Given the description of an element on the screen output the (x, y) to click on. 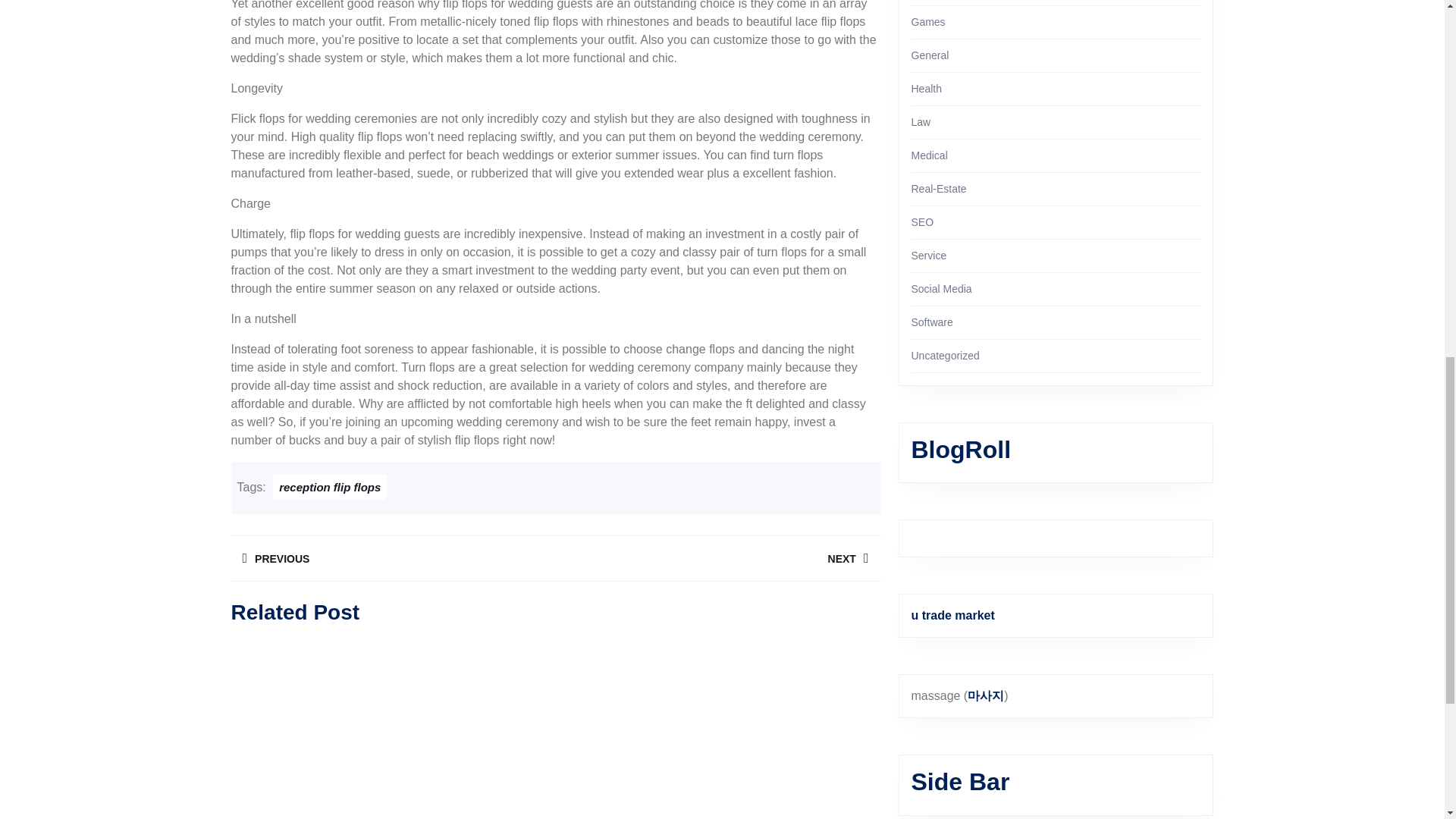
reception flip flops (330, 487)
Games (927, 21)
Health (392, 558)
Law (716, 558)
General (926, 88)
